Given the description of an element on the screen output the (x, y) to click on. 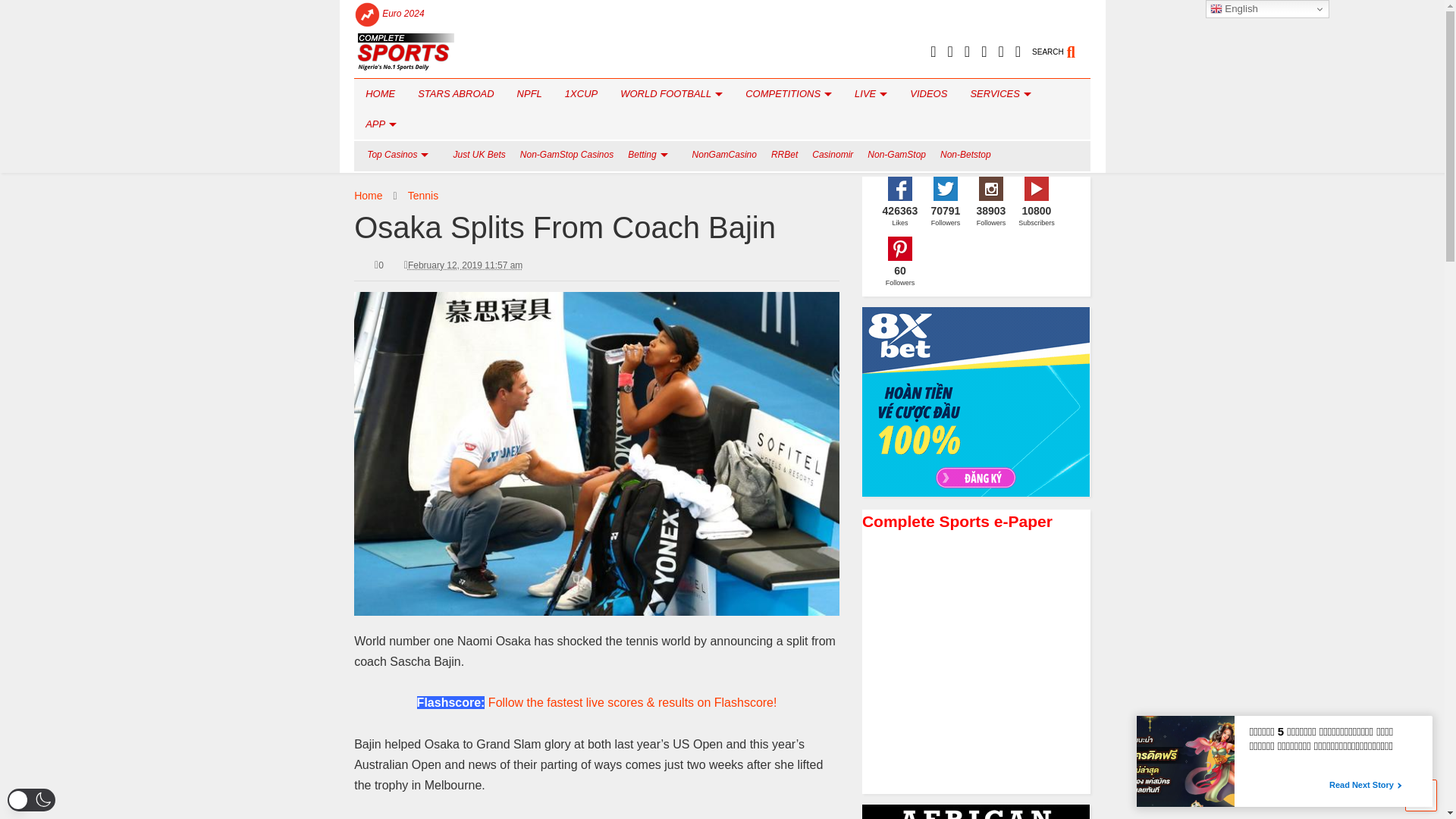
SERVICES (1000, 93)
VIDEOS (928, 93)
February 12, 2019 12:01 pm (464, 265)
NPFL (529, 93)
WORLD FOOTBALL (670, 93)
Complete Sports (405, 65)
Euro 2024 (403, 13)
STARS ABROAD (455, 93)
LIVE (870, 93)
COMPETITIONS (788, 93)
HOME (379, 93)
SEARCH (1061, 45)
1XCUP (580, 93)
